Given the description of an element on the screen output the (x, y) to click on. 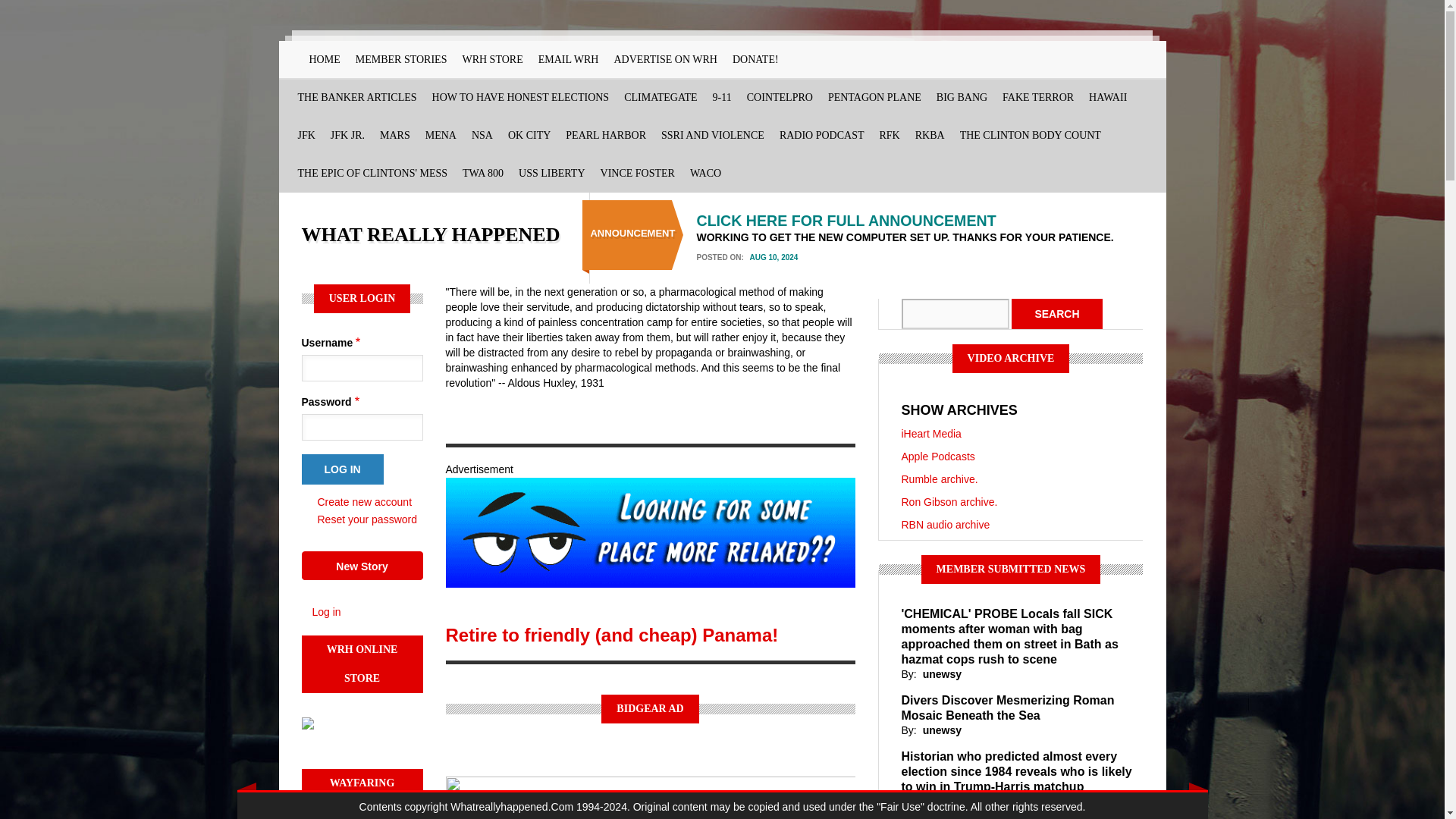
NSA (482, 135)
Enter the terms you wish to search for. (955, 313)
EMAIL WRH (569, 59)
BIG BANG (961, 97)
VINCE FOSTER (637, 173)
MEMBER STORIES (400, 59)
SSRI AND VIOLENCE (712, 135)
COINTELPRO (780, 97)
USS LIBERTY (551, 173)
